Given the description of an element on the screen output the (x, y) to click on. 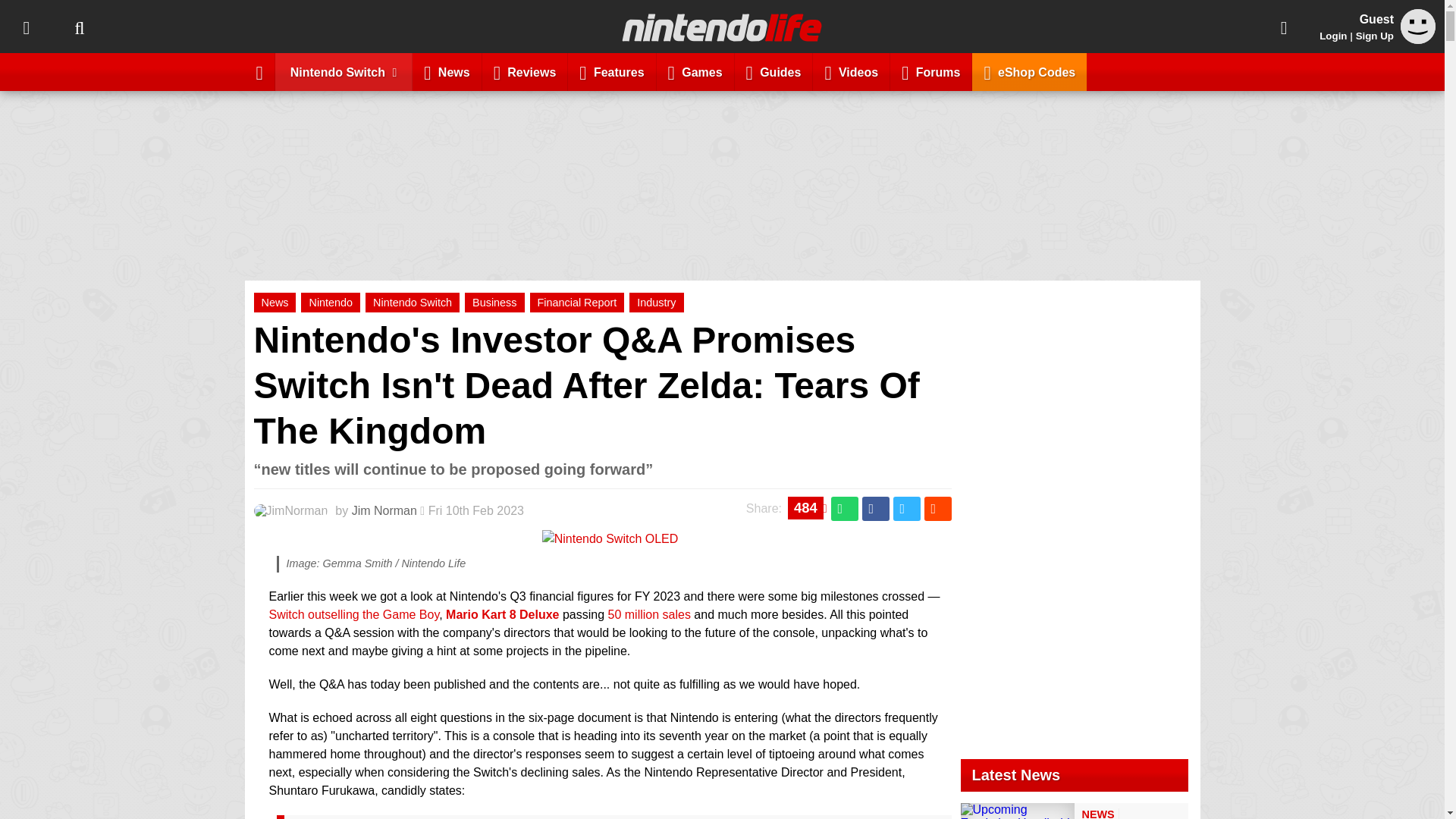
Games (695, 71)
Features (611, 71)
News (446, 71)
Guest (1417, 39)
Business (494, 302)
Login (1332, 35)
eShop Codes (1029, 71)
Nintendo Switch (344, 71)
Financial Report (576, 302)
Search (79, 26)
